Given the description of an element on the screen output the (x, y) to click on. 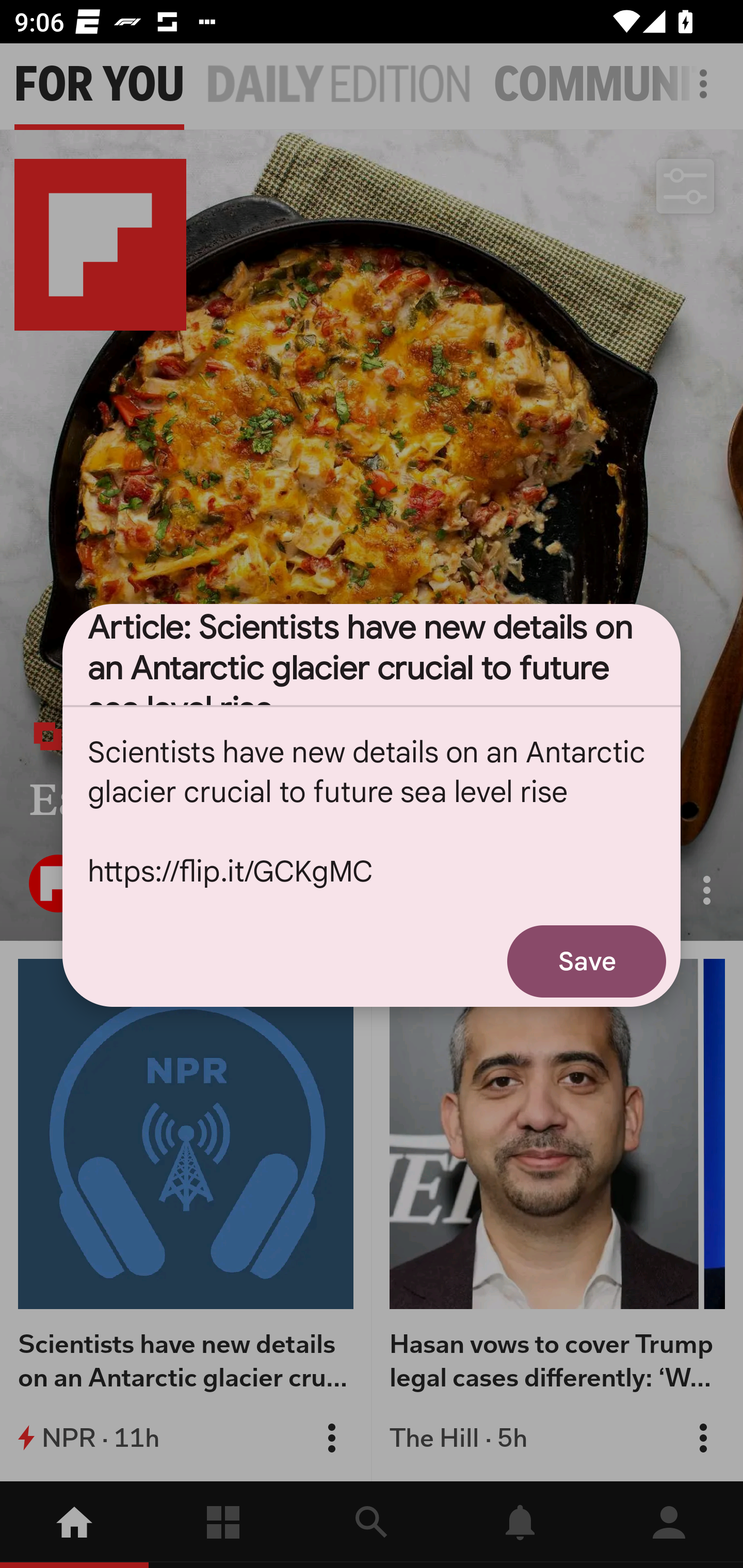
Save (586, 961)
